Given the description of an element on the screen output the (x, y) to click on. 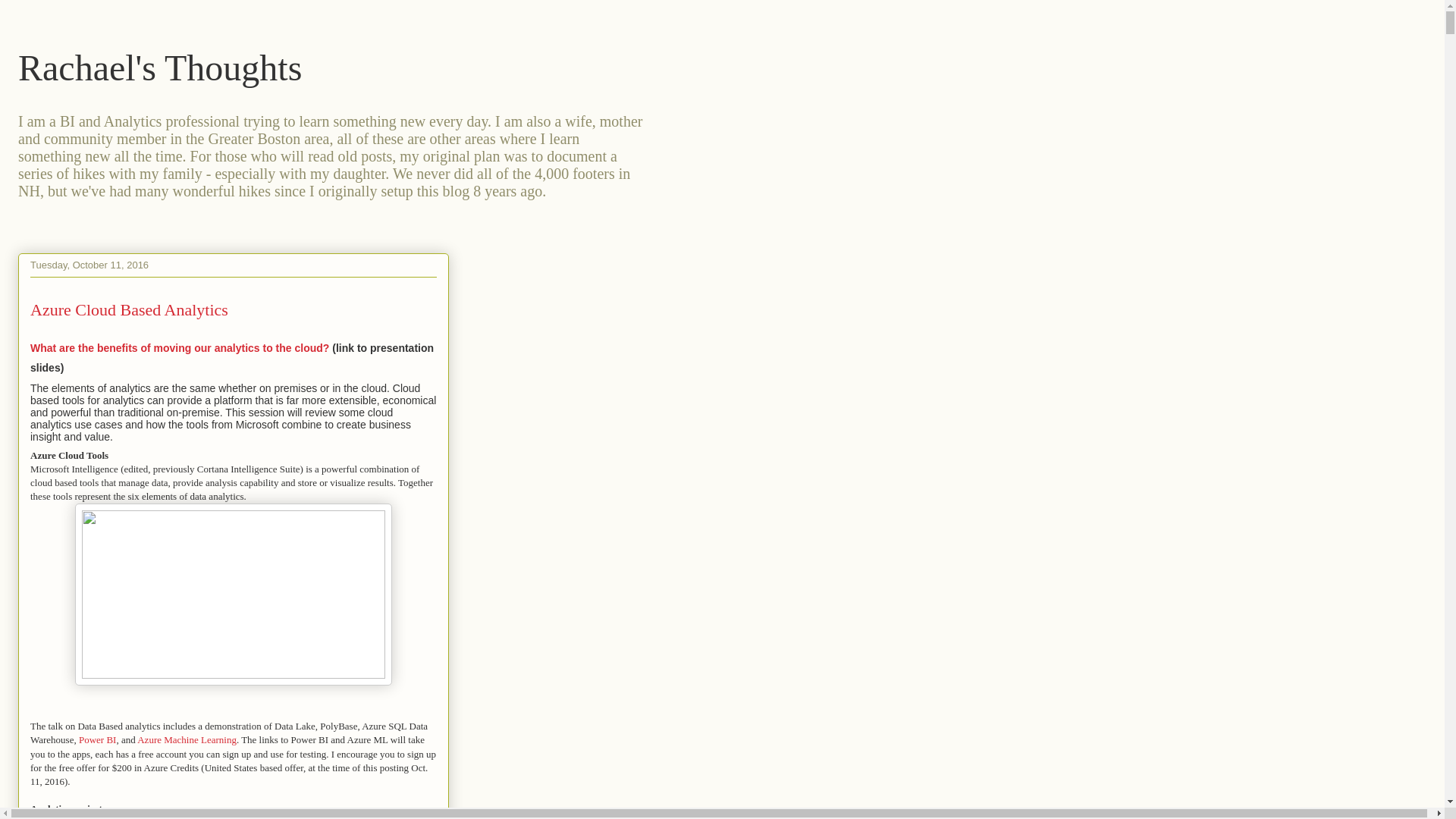
Power BI (97, 739)
Azure Machine Learning (185, 739)
Rachael's Thoughts (159, 67)
What are the benefits of moving our analytics to the cloud? (179, 347)
